Given the description of an element on the screen output the (x, y) to click on. 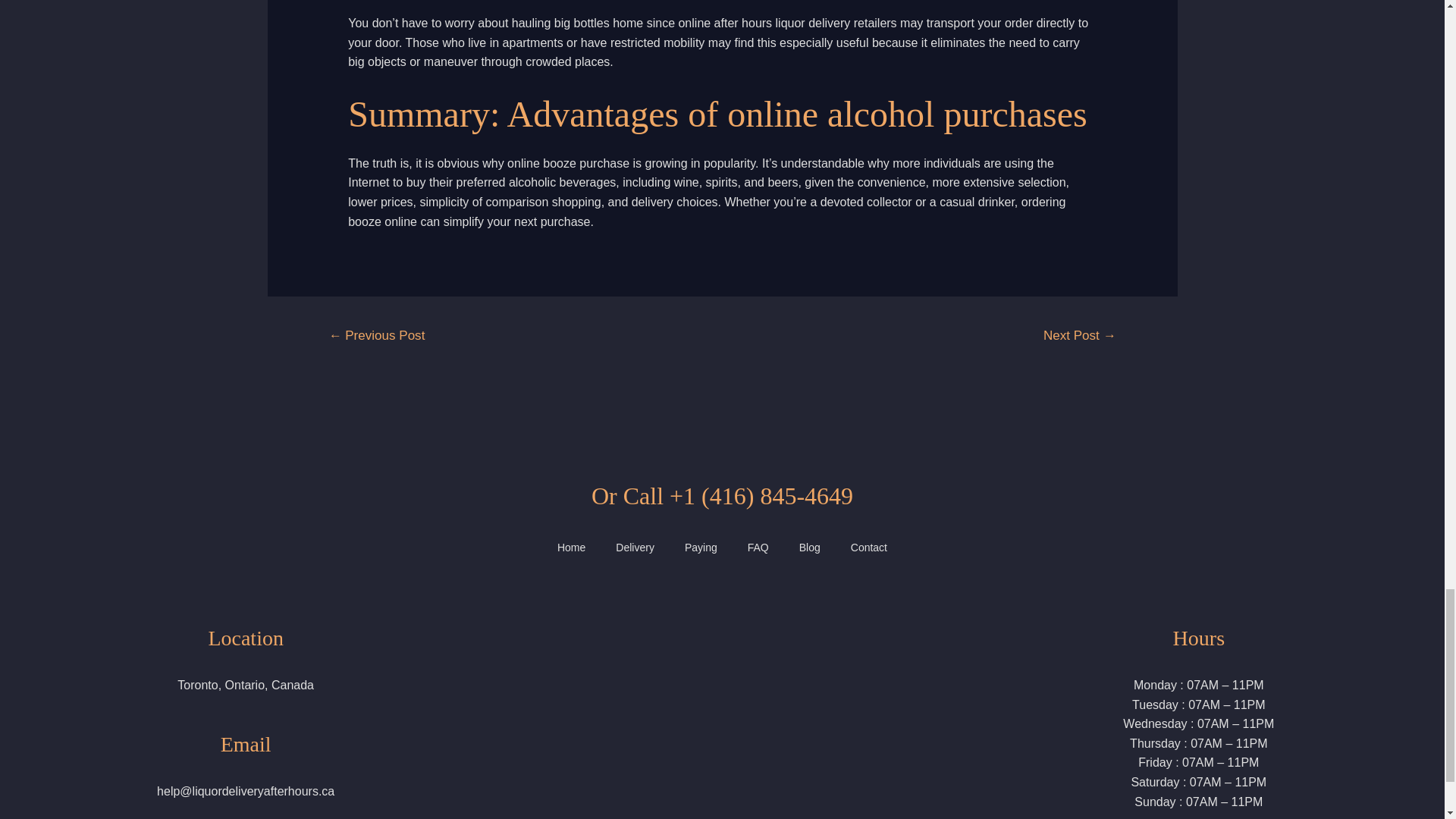
Blog (809, 547)
Paying (700, 547)
Delivery (634, 547)
Contact (868, 547)
Home (570, 547)
FAQ (758, 547)
